Given the description of an element on the screen output the (x, y) to click on. 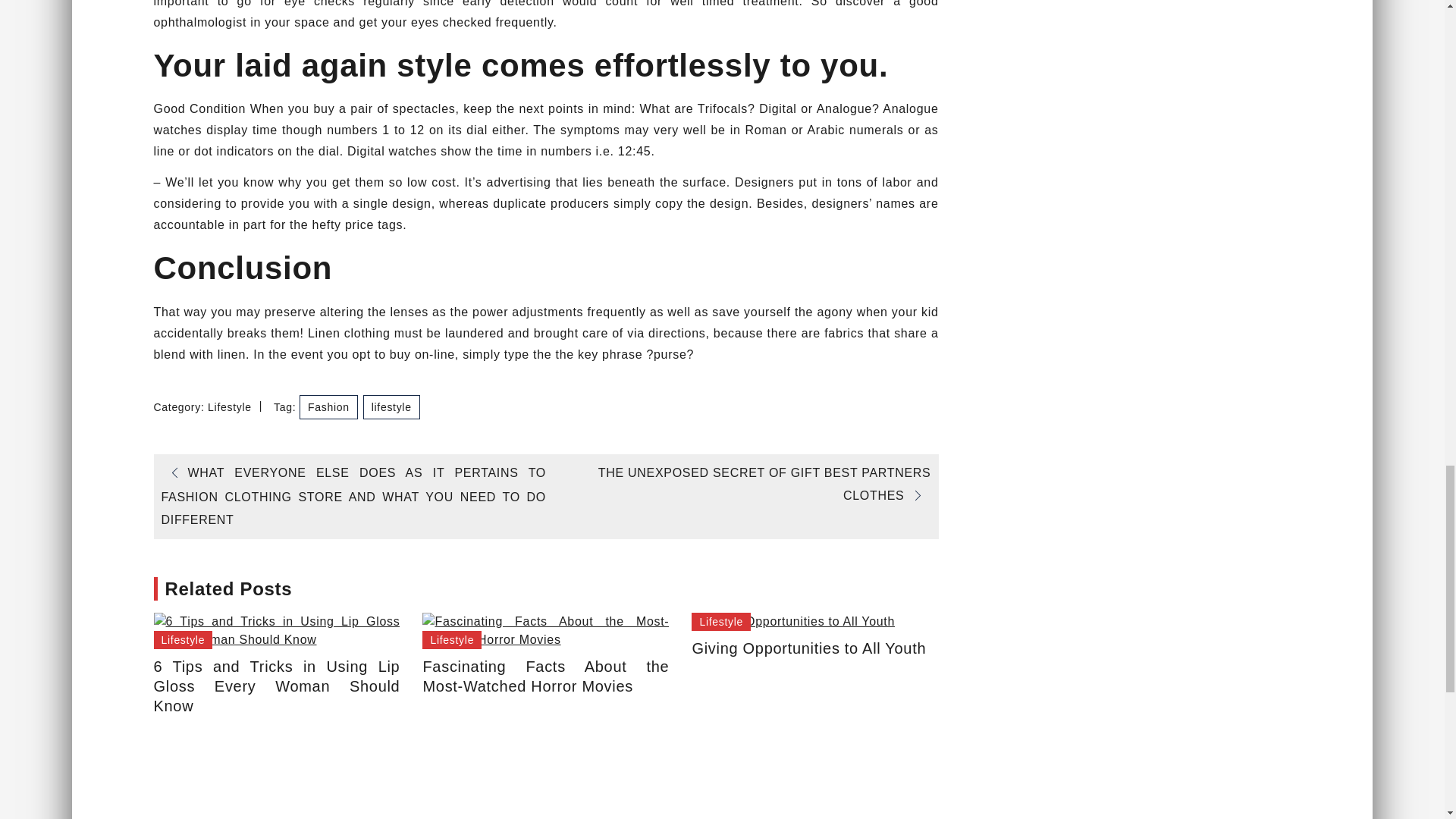
THE UNEXPOSED SECRET OF GIFT BEST PARTNERS CLOTHES (764, 484)
6 Tips and Tricks in Using Lip Gloss Every Woman Should Know (275, 685)
Giving Opportunities to All Youth (814, 648)
Lifestyle (391, 406)
6 Tips and Tricks in Using Lip Gloss Every Woman Should Know (275, 630)
Fashion (328, 406)
Giving Opportunities to All Youth (793, 621)
Lifestyle (721, 621)
Fascinating Facts About the Most-Watched Horror Movies (545, 676)
Fascinating Facts About the Most-Watched Horror Movies (545, 630)
